Given the description of an element on the screen output the (x, y) to click on. 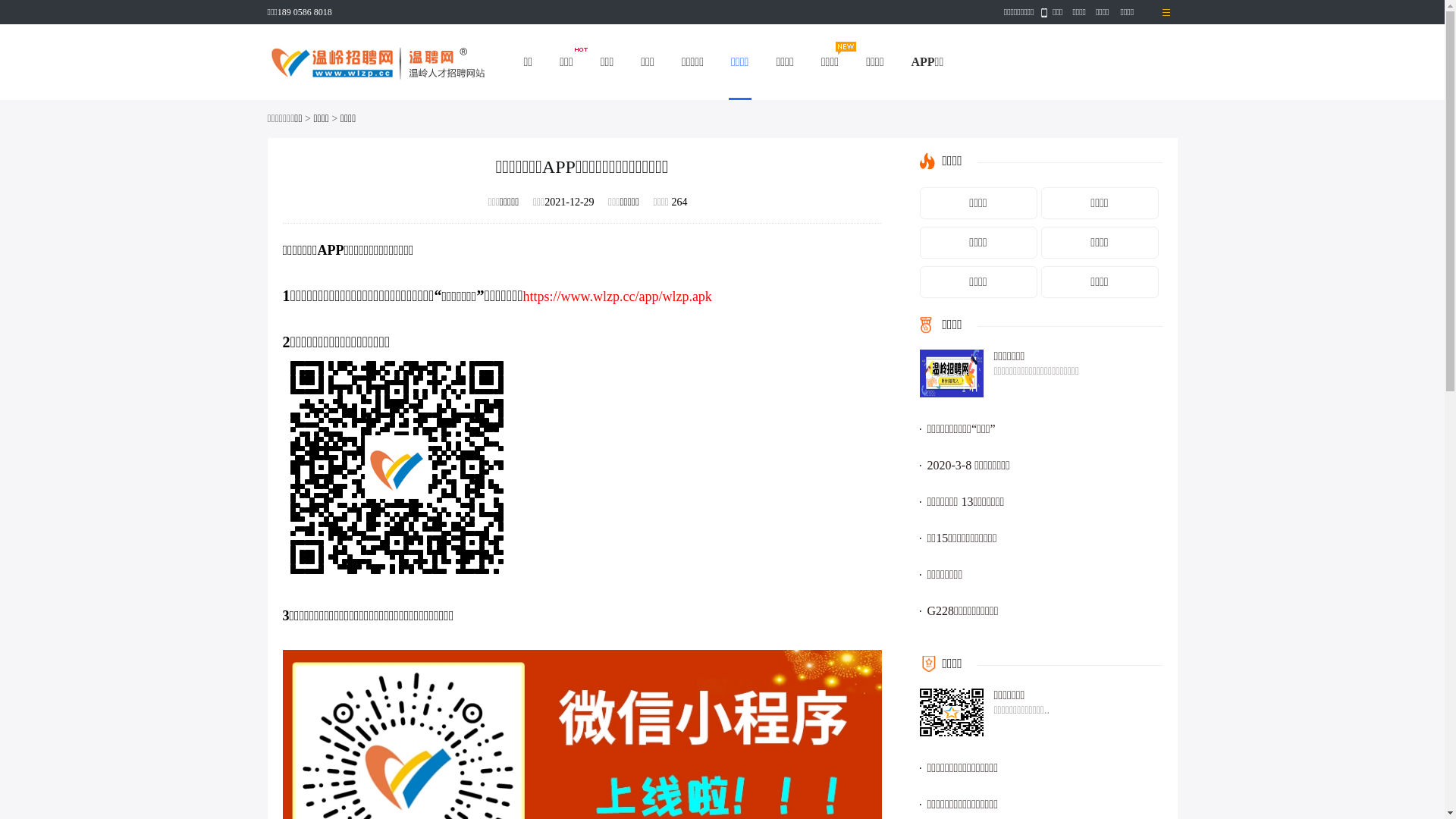
1640775411437133.png Element type: hover (395, 466)
https://www.wlzp.cc/app/wlzp.apk Element type: text (617, 296)
